Given the description of an element on the screen output the (x, y) to click on. 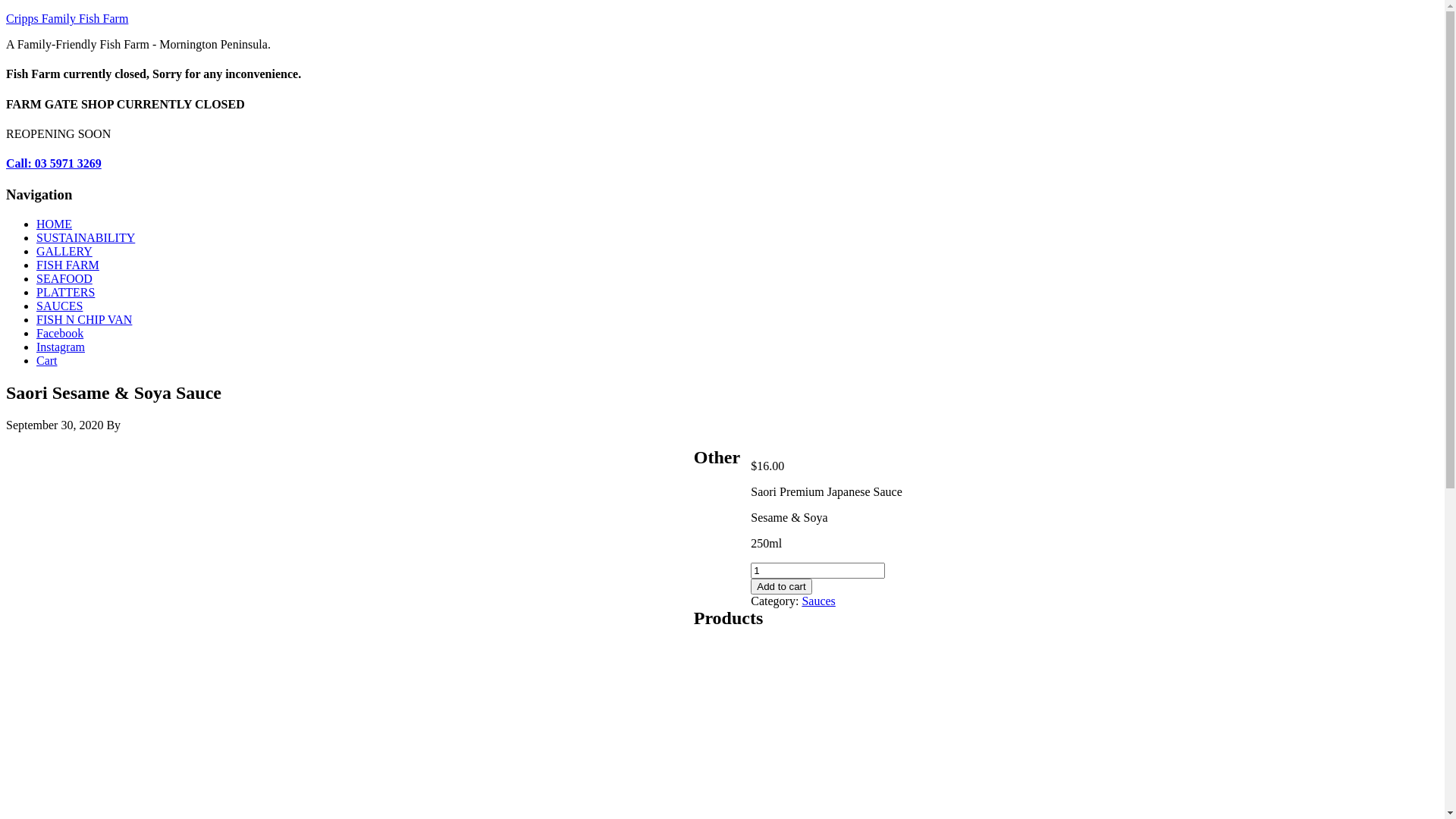
Facebook Element type: text (59, 332)
FISH FARM Element type: text (67, 264)
Instagram Element type: text (60, 346)
Call: 03 5971 3269 Element type: text (53, 162)
Qty Element type: hover (817, 570)
SAUCES Element type: text (59, 305)
Sauces Element type: text (817, 600)
Add to cart Element type: text (780, 586)
GALLERY Element type: text (64, 250)
SEAFOOD Element type: text (64, 278)
Cart Element type: text (46, 360)
HOME Element type: text (54, 223)
Cripps Family Fish Farm Element type: text (67, 18)
PLATTERS Element type: text (65, 291)
FISH N CHIP VAN Element type: text (83, 319)
SUSTAINABILITY Element type: text (85, 237)
